Given the description of an element on the screen output the (x, y) to click on. 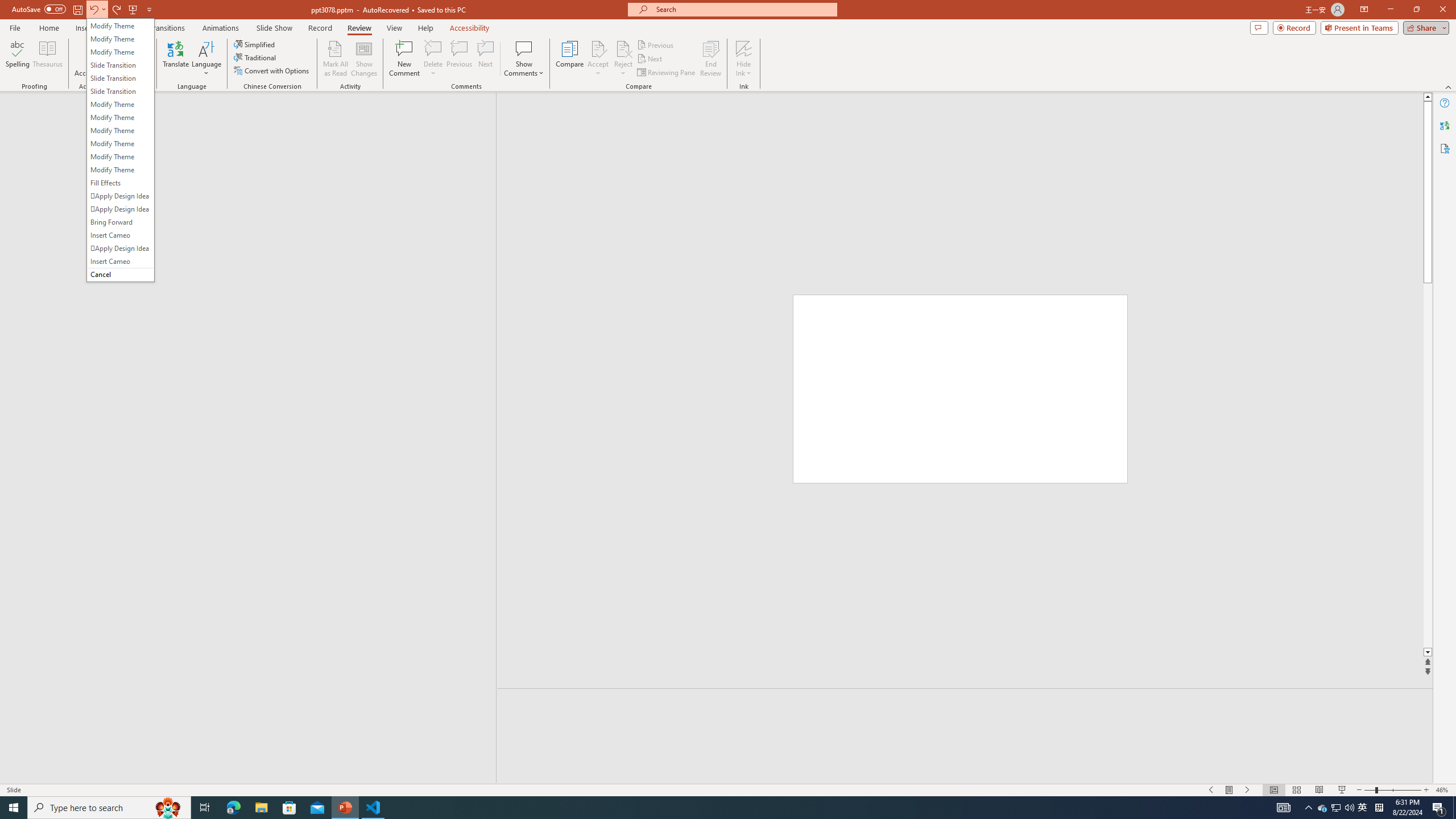
Thesaurus... (47, 58)
Show Changes (363, 58)
End Review (710, 58)
New Comment (403, 58)
Spelling... (17, 58)
Line down (1427, 652)
AutomationID: 4105 (1283, 807)
Tray Input Indicator - Chinese (Simplified, China) (1378, 807)
